Given the description of an element on the screen output the (x, y) to click on. 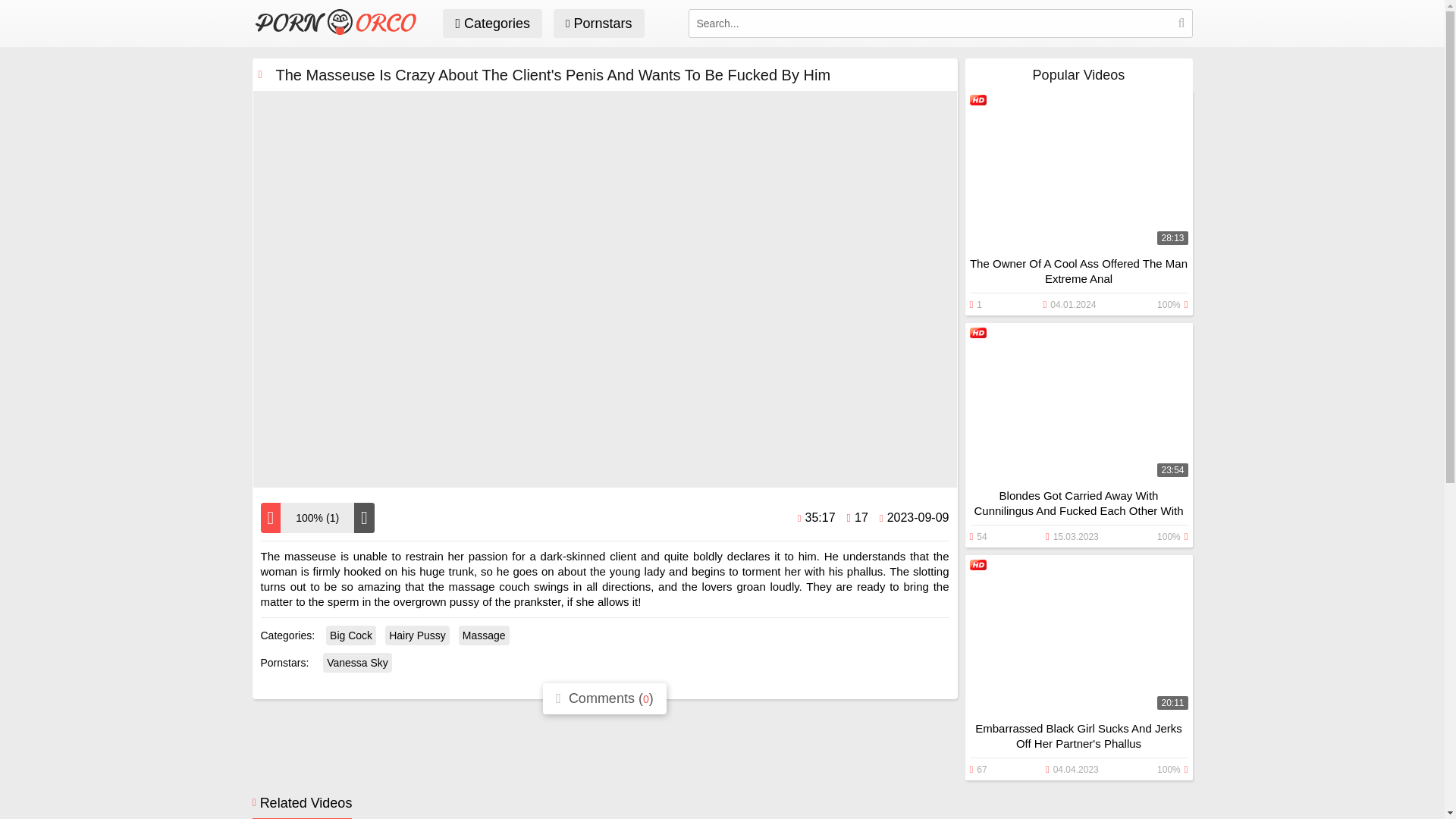
Hairy Pussy (417, 635)
Pornorco (339, 30)
Pornstars (599, 23)
Massage (483, 635)
Hairy Pussy (417, 635)
Massage (483, 635)
Categories (491, 23)
Big Cock (350, 635)
Vanessa Sky (357, 662)
Vanessa Sky (357, 662)
Pornstars (599, 23)
Big Cock (350, 635)
Categories (491, 23)
